Given the description of an element on the screen output the (x, y) to click on. 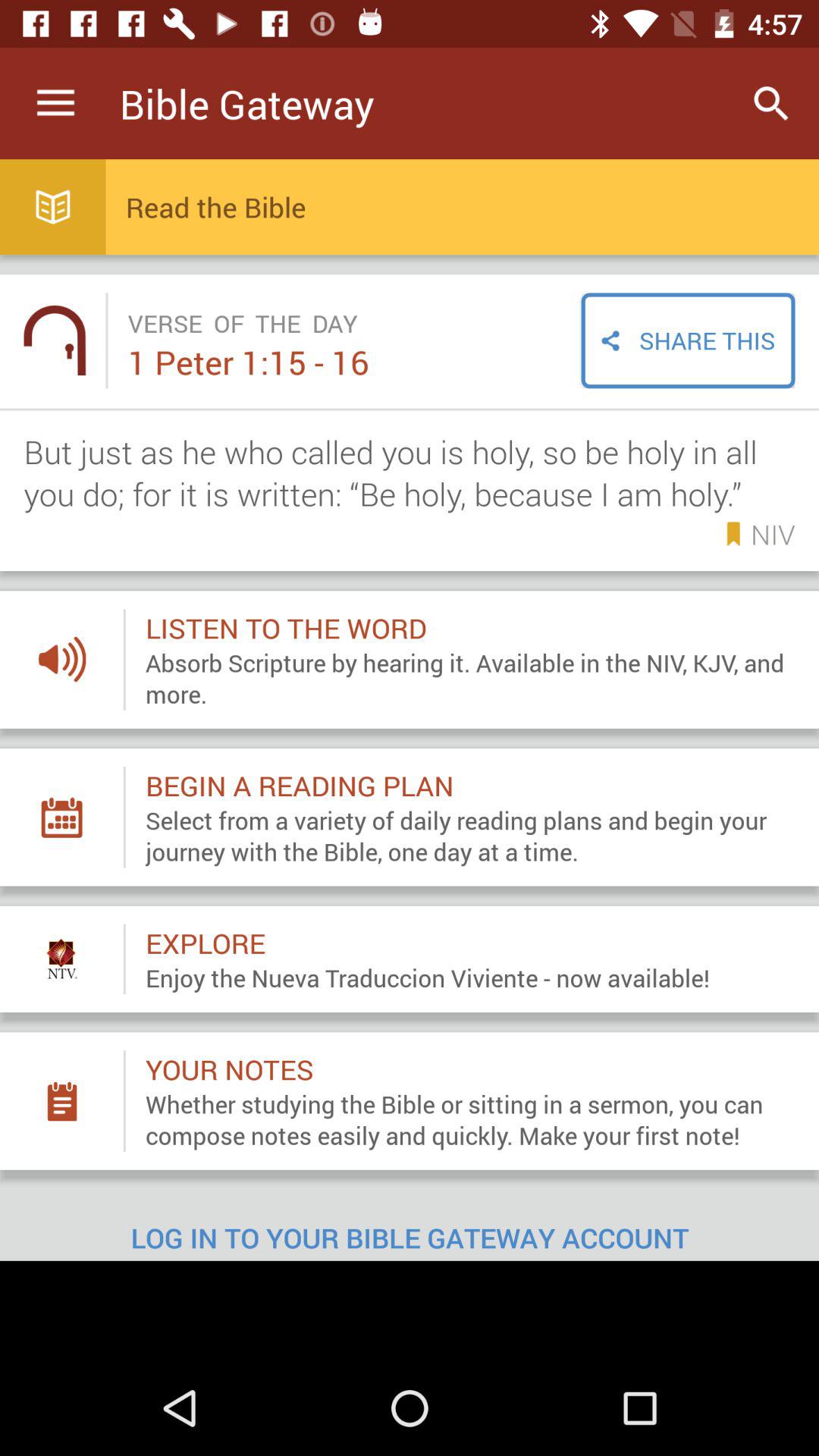
press the item below read the bible (688, 340)
